Given the description of an element on the screen output the (x, y) to click on. 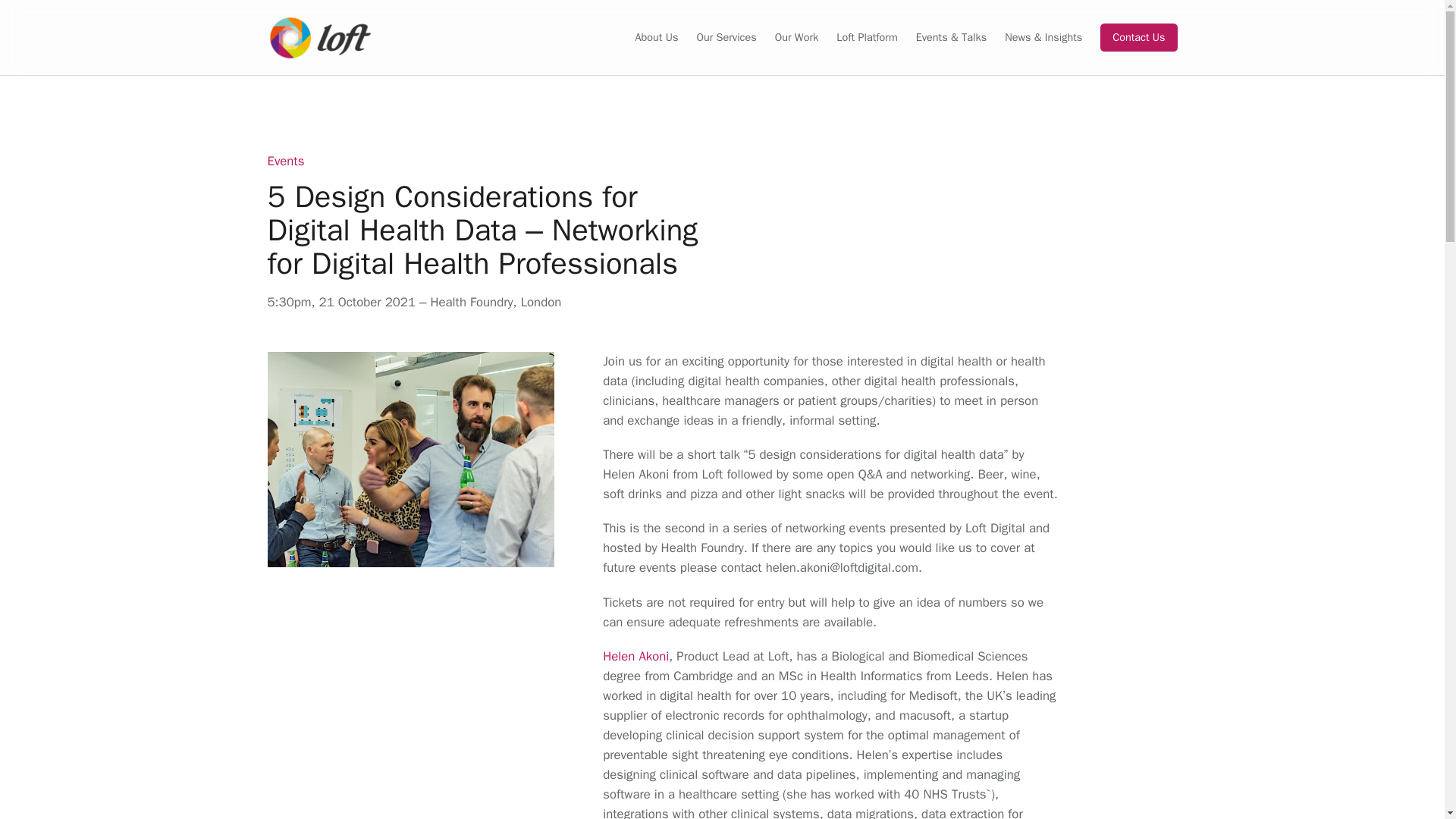
Loft Platform (865, 37)
Our Services (725, 37)
Events (285, 160)
Helen Akoni (635, 656)
Our Work (796, 37)
Contact Us (1138, 36)
About Us (656, 37)
